Given the description of an element on the screen output the (x, y) to click on. 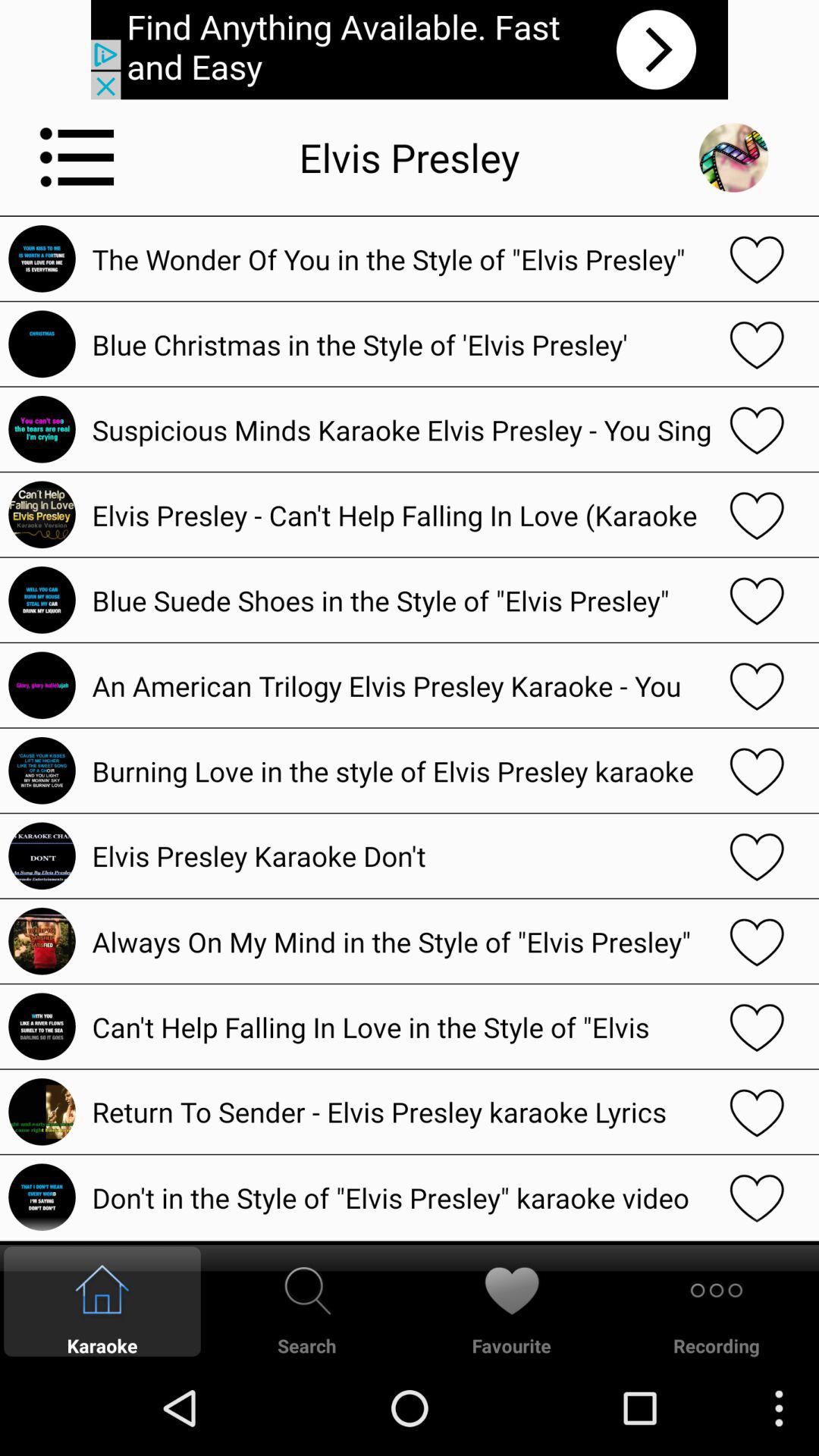
back button (733, 157)
